Given the description of an element on the screen output the (x, y) to click on. 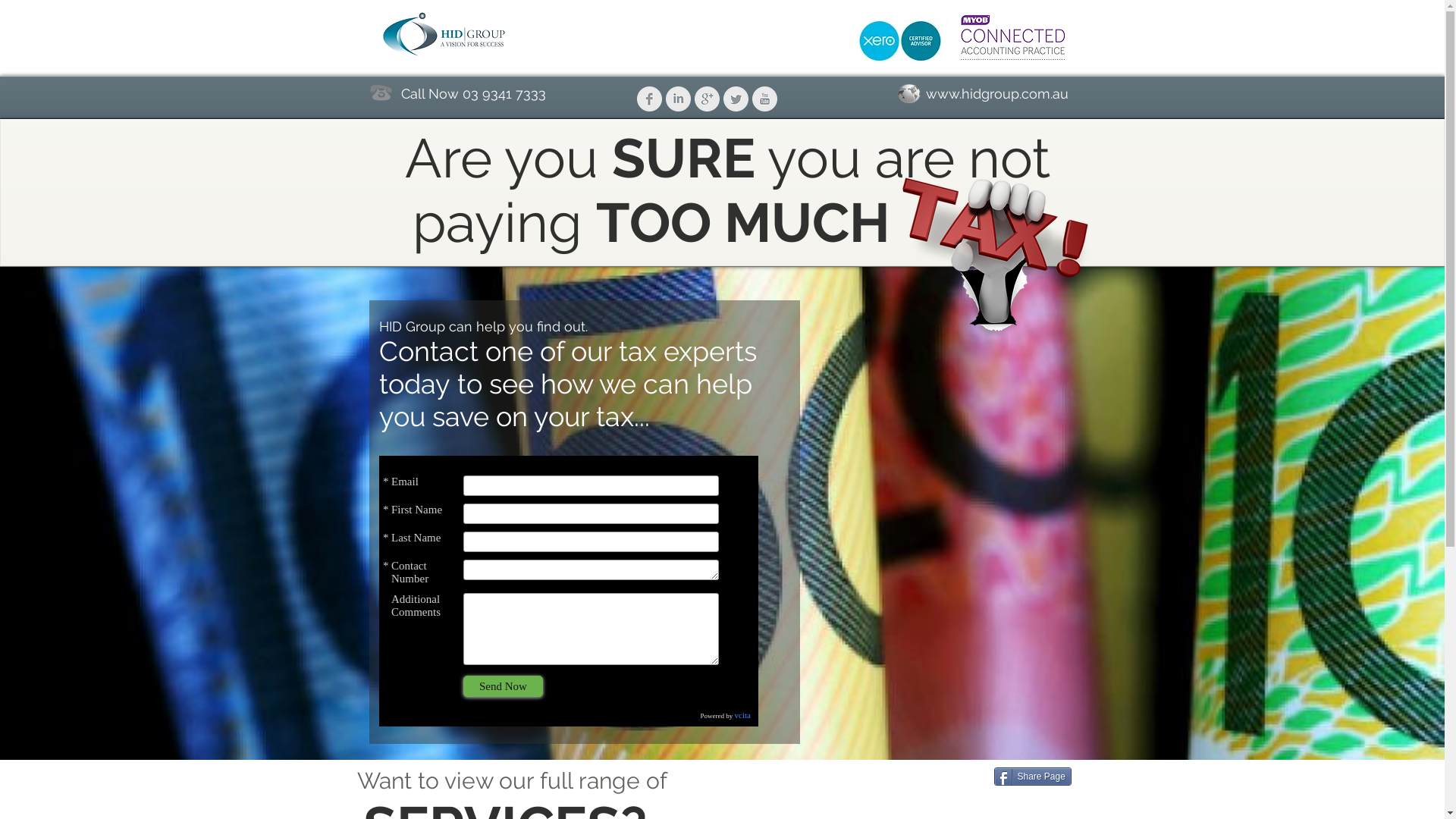
hand_punch_text_11481 (1).png Element type: hover (995, 254)
www.hidgroup.com.au Element type: text (996, 93)
HID-Logo-Landscape Lge.png Element type: hover (444, 34)
Share Page Element type: text (1031, 776)
Quick Form Builder Element type: hover (568, 590)
Embedded Content Element type: hover (433, 688)
